Given the description of an element on the screen output the (x, y) to click on. 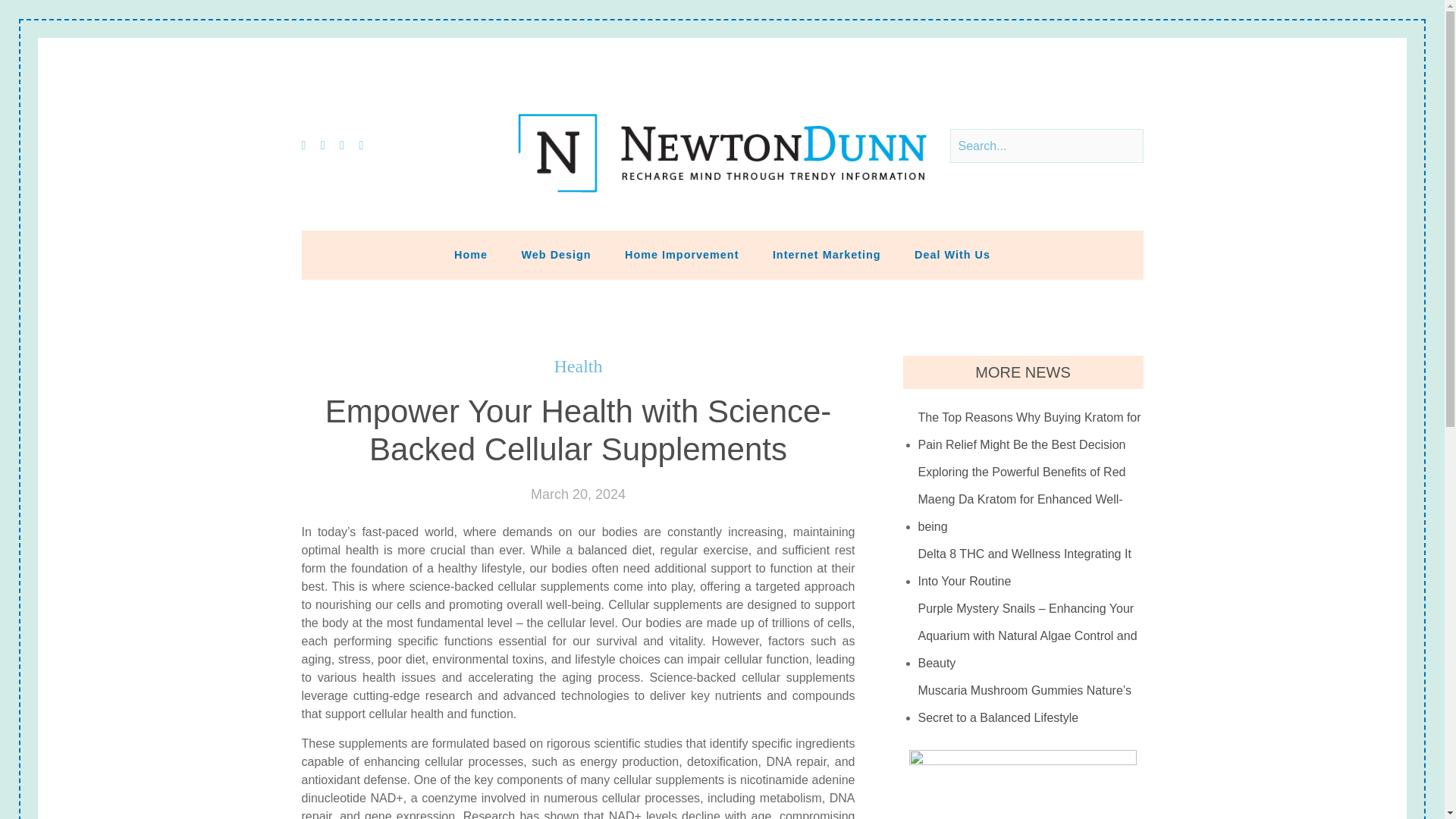
Internet Marketing (826, 254)
Delta 8 THC and Wellness Integrating It Into Your Routine (1030, 567)
March 20, 2024 (578, 494)
Home Imporvement (682, 254)
Home (470, 254)
Health (577, 366)
Deal With Us (952, 254)
Web Design (556, 254)
